Given the description of an element on the screen output the (x, y) to click on. 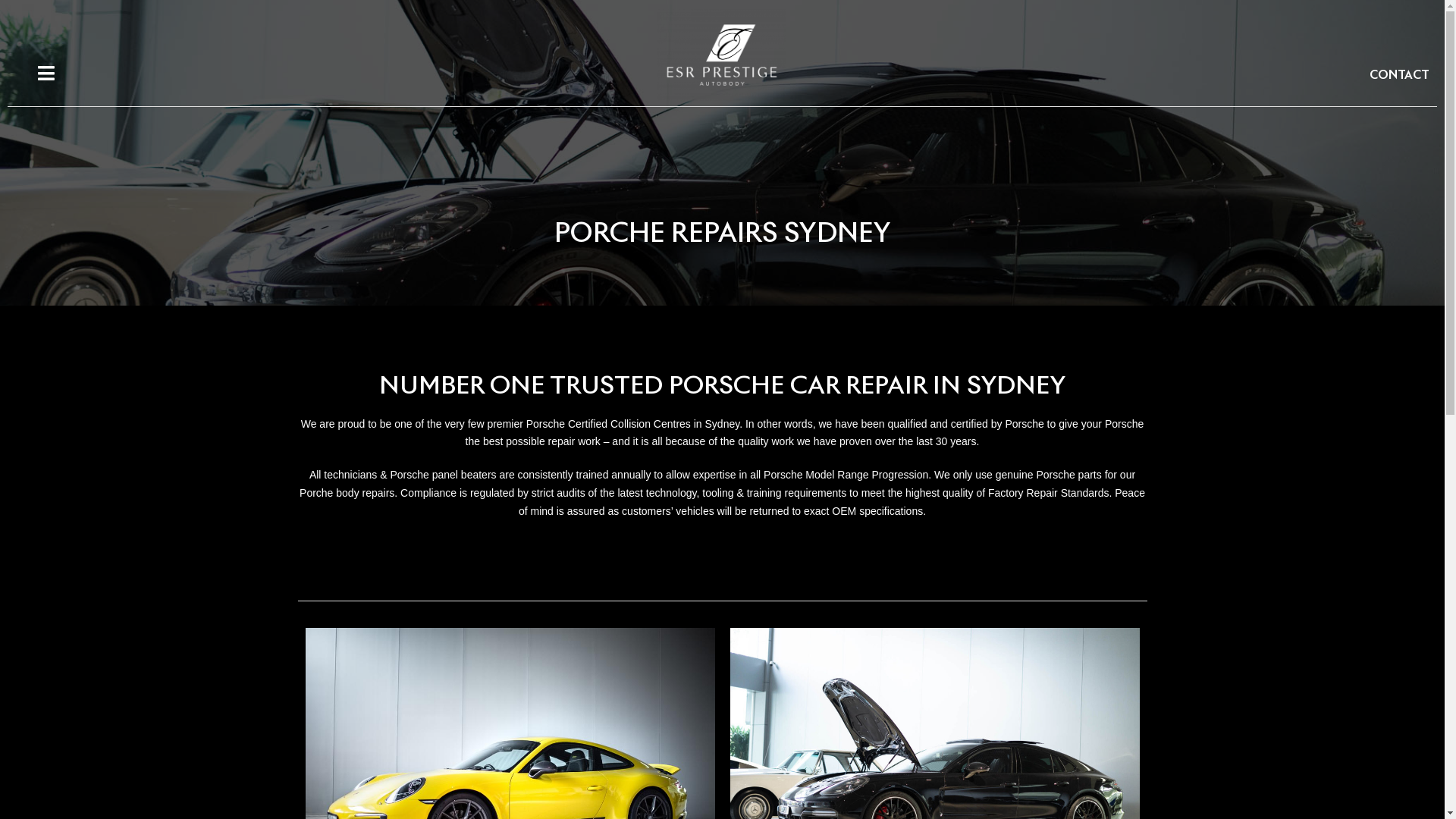
esr_logo3 Element type: hover (721, 54)
CONTACT Element type: text (1399, 75)
